Given the description of an element on the screen output the (x, y) to click on. 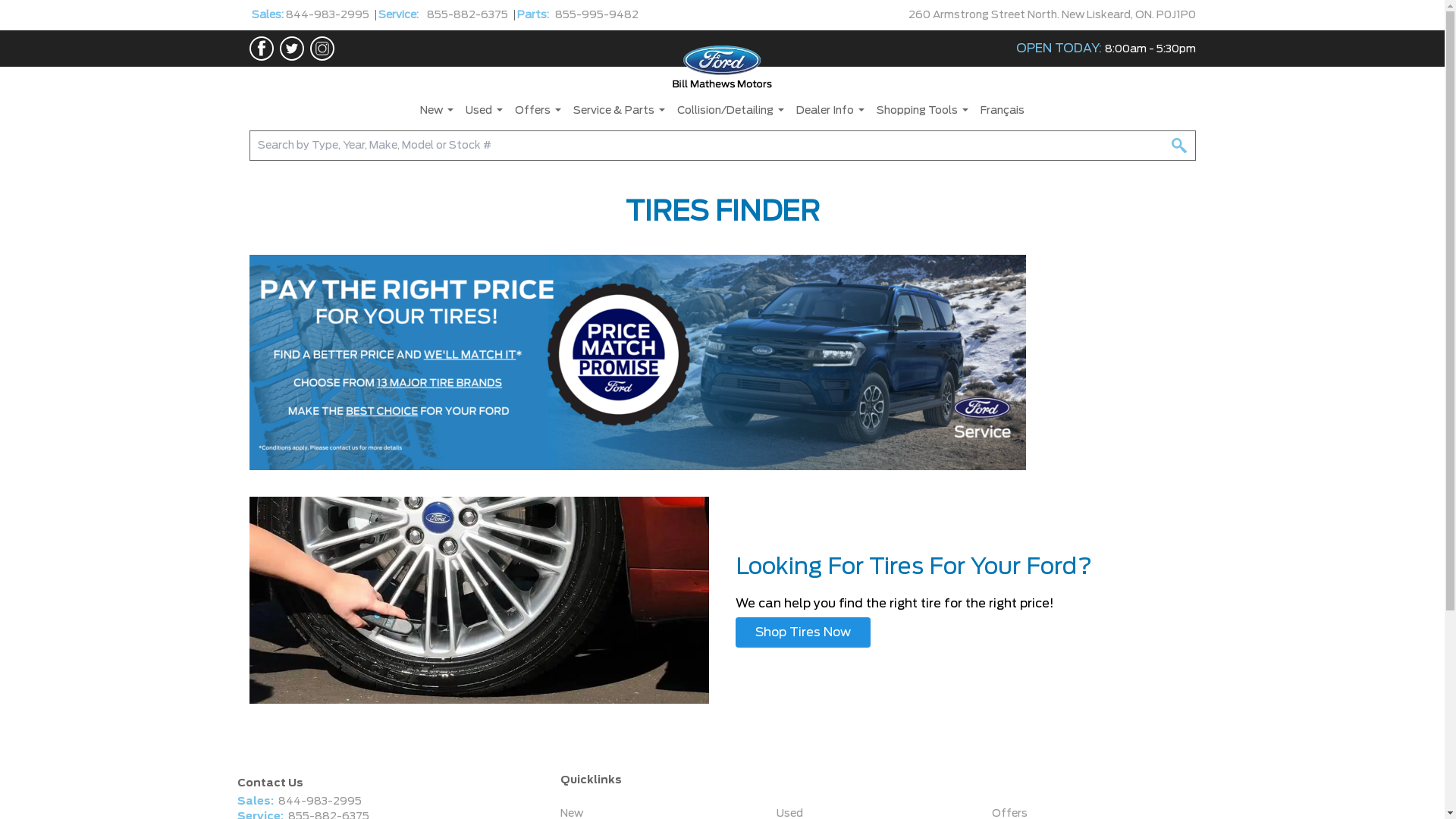
Shopping Tools Element type: text (922, 110)
Offers Element type: text (537, 110)
855-995-9482 Element type: text (596, 14)
260 Armstrong Street North. New Liskeard, ON. P0J1P0 Element type: text (1051, 14)
Collision/Detailing Element type: text (730, 110)
Service & Parts Element type: text (619, 110)
 844-983-2995 Element type: text (318, 801)
Bill Mathews Motors Logo Element type: hover (722, 66)
 855-882-6375 Element type: text (466, 14)
Dealer Info Element type: text (830, 110)
Shop Tires Now Element type: text (802, 632)
Used Element type: text (483, 110)
Visit our Instagram Page Element type: hover (318, 48)
New Element type: text (436, 110)
Visit our Facebook Page Element type: hover (260, 48)
Visit our Twitter Profile Element type: hover (288, 48)
 844-983-2995 Element type: text (329, 14)
